Given the description of an element on the screen output the (x, y) to click on. 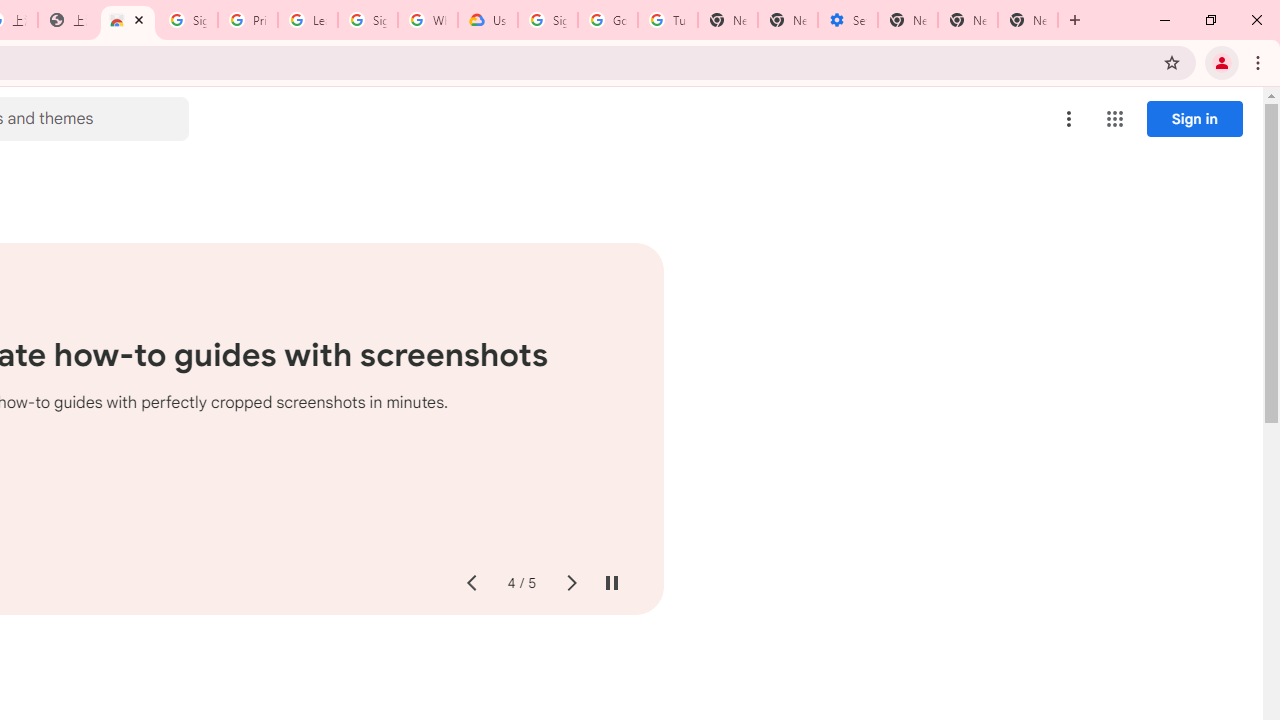
New Tab (908, 20)
Sign in - Google Accounts (367, 20)
Sign in - Google Accounts (548, 20)
Settings - Addresses and more (847, 20)
Previous slide (470, 583)
Who are Google's partners? - Privacy and conditions - Google (428, 20)
New Tab (1028, 20)
